Given the description of an element on the screen output the (x, y) to click on. 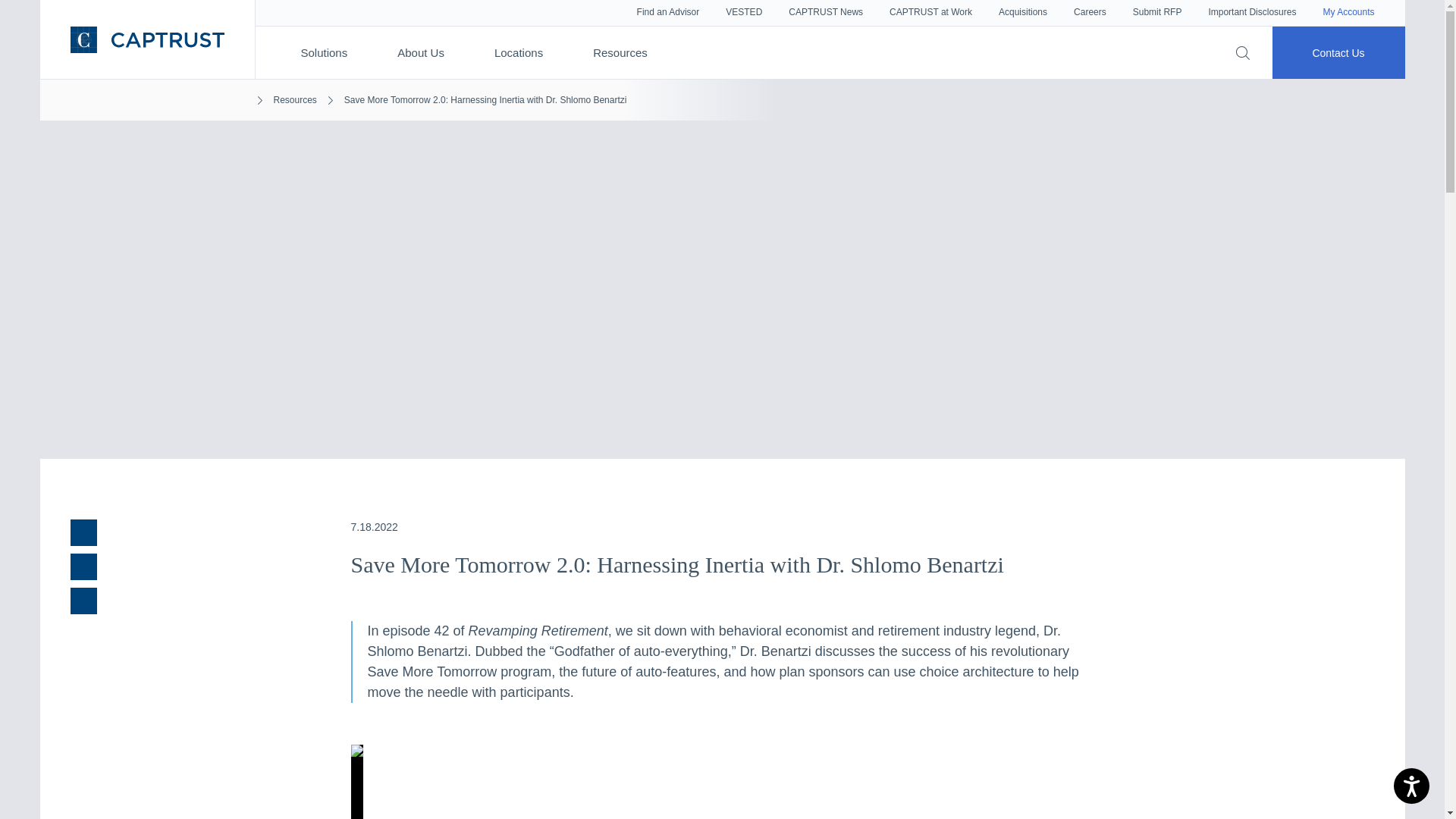
Open Accessibility Menu (1411, 785)
Libsyn Player (721, 781)
Go to Homepage (146, 39)
About Us (420, 53)
Solutions (323, 53)
